Given the description of an element on the screen output the (x, y) to click on. 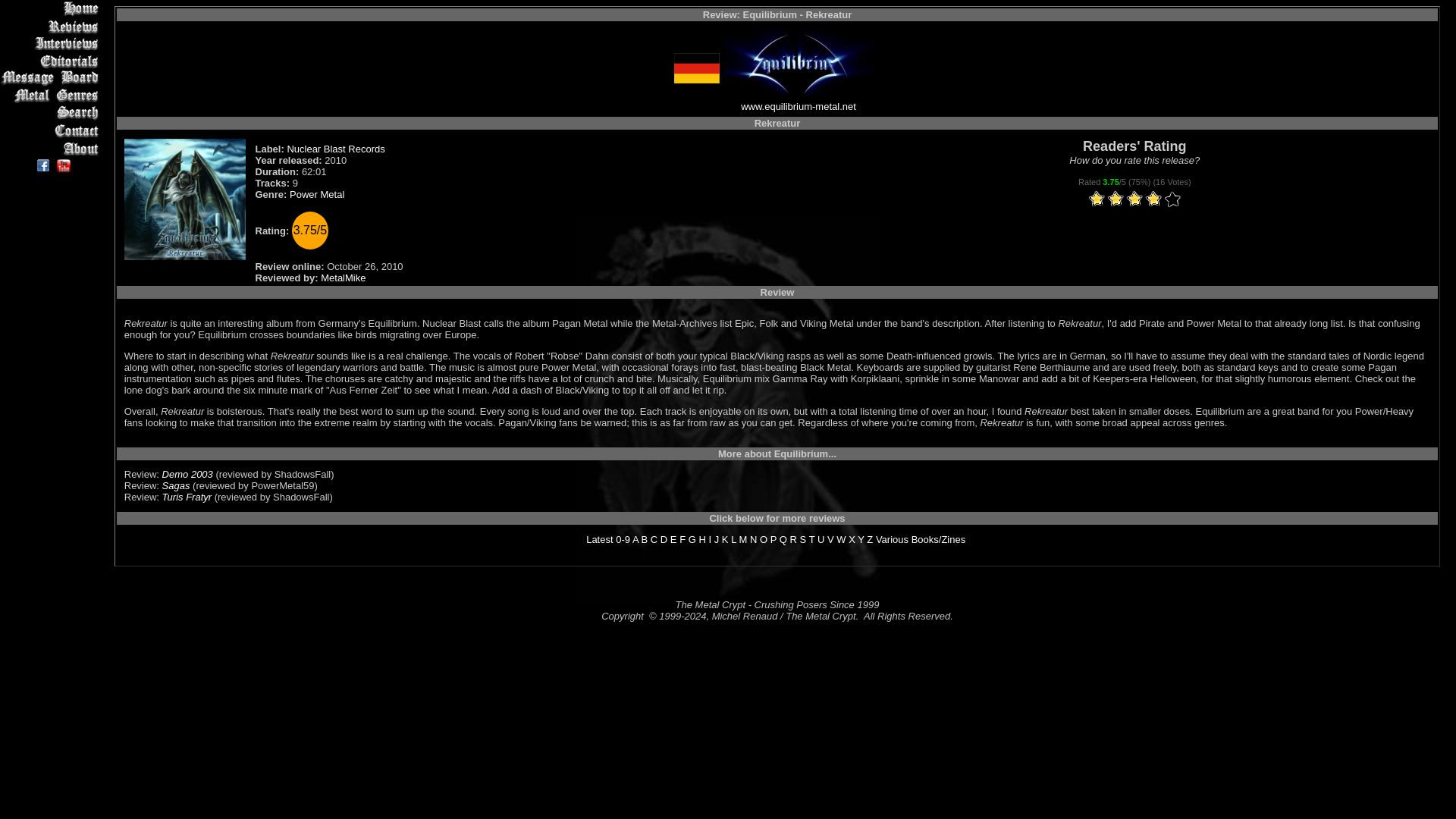
Reviews (52, 26)
3 stars out of 5 (1115, 199)
Information About the Site and the Active Reviewers (52, 148)
Discuss Metal and Other Stuff (52, 77)
Equilibrium (798, 61)
Latest (599, 539)
Home (52, 8)
List of Interviews (52, 43)
From: Germany - Click for more country information (696, 79)
Contact Us to Submit Material for Review or Other Inquiries (52, 130)
The Metal Crypt's YouTube Channel (63, 165)
Nuclear Blast Records (335, 148)
5 stars out of 5 (1134, 199)
Turis Fratyr (186, 496)
2 stars out of 5 (1106, 199)
